Given the description of an element on the screen output the (x, y) to click on. 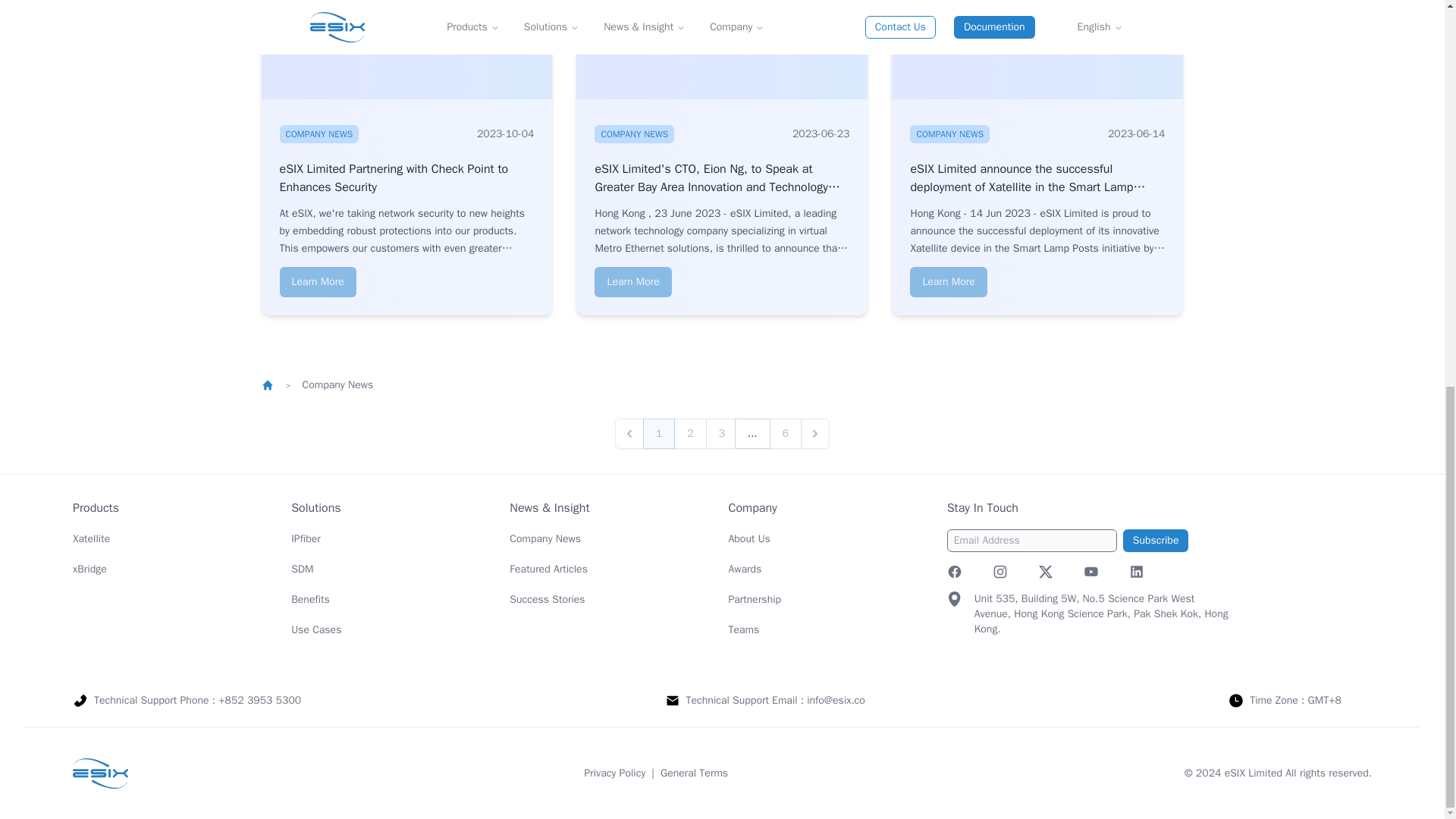
6 (786, 432)
SDM (302, 567)
Use Cases (315, 628)
2 (690, 432)
Learn More (317, 281)
1 (659, 432)
Benefits (310, 598)
Learn More (948, 281)
IPfiber (305, 537)
Learn More (632, 281)
